Given the description of an element on the screen output the (x, y) to click on. 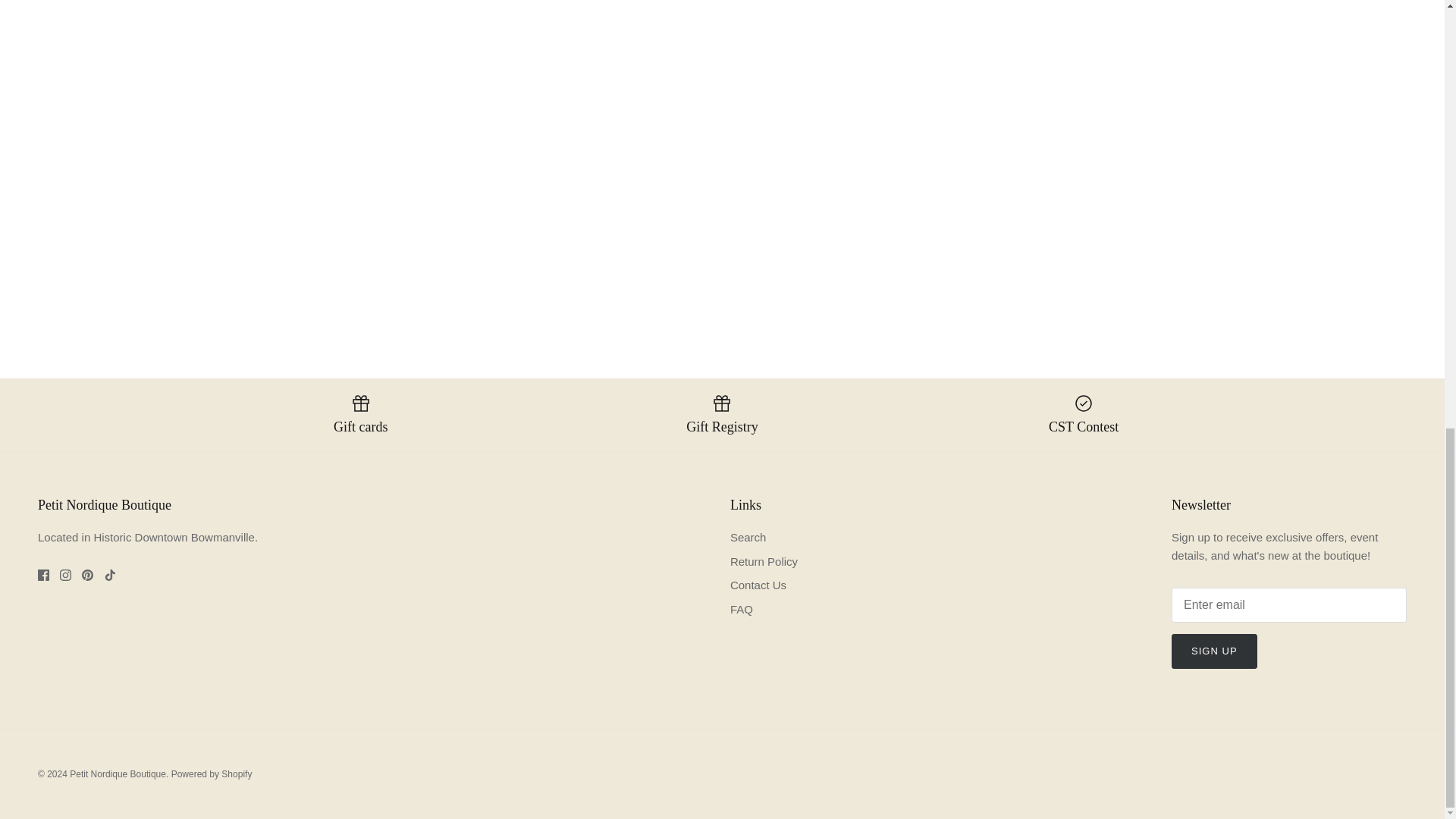
Instagram (65, 574)
Facebook (43, 574)
Pinterest (87, 574)
